Given the description of an element on the screen output the (x, y) to click on. 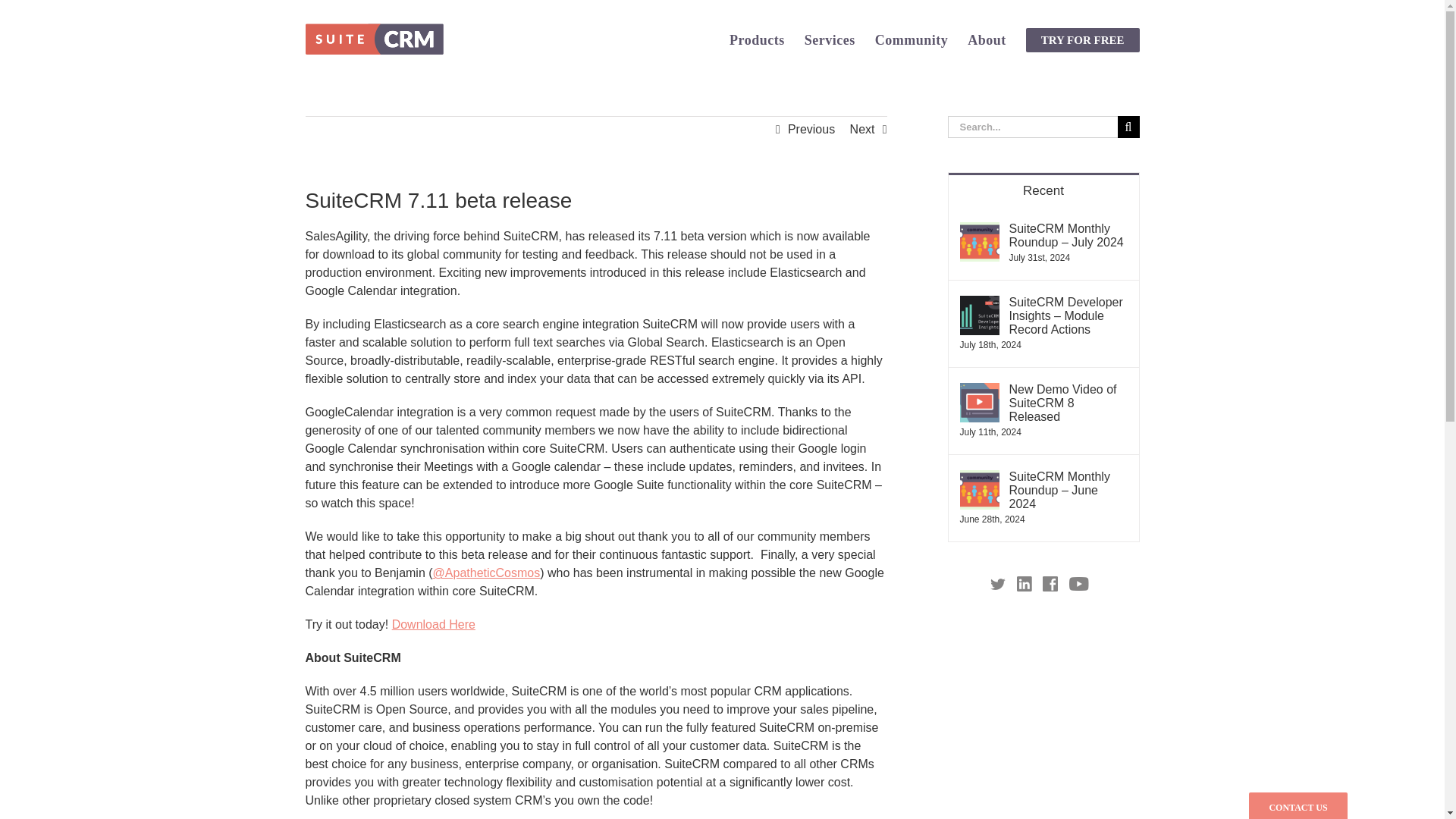
Services (829, 38)
Community (911, 38)
Products (756, 38)
